Given the description of an element on the screen output the (x, y) to click on. 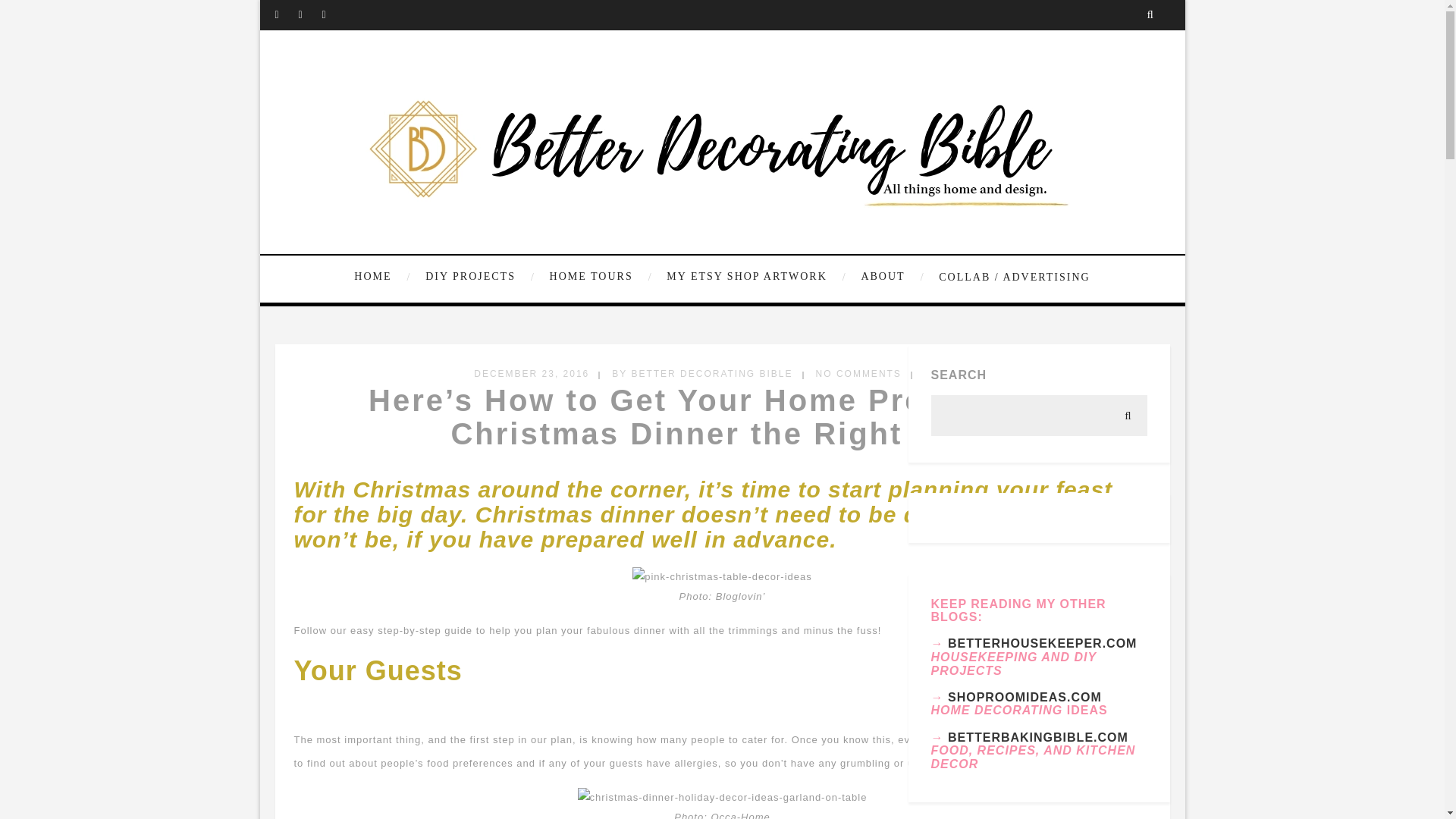
BY BETTER DECORATING BIBLE (701, 373)
HOME TOURS (598, 276)
DIY PROJECTS (477, 276)
DECEMBER 23, 2016 (531, 373)
MY ETSY SHOP ARTWORK (753, 276)
NO COMMENTS (858, 373)
HOME (383, 276)
